Given the description of an element on the screen output the (x, y) to click on. 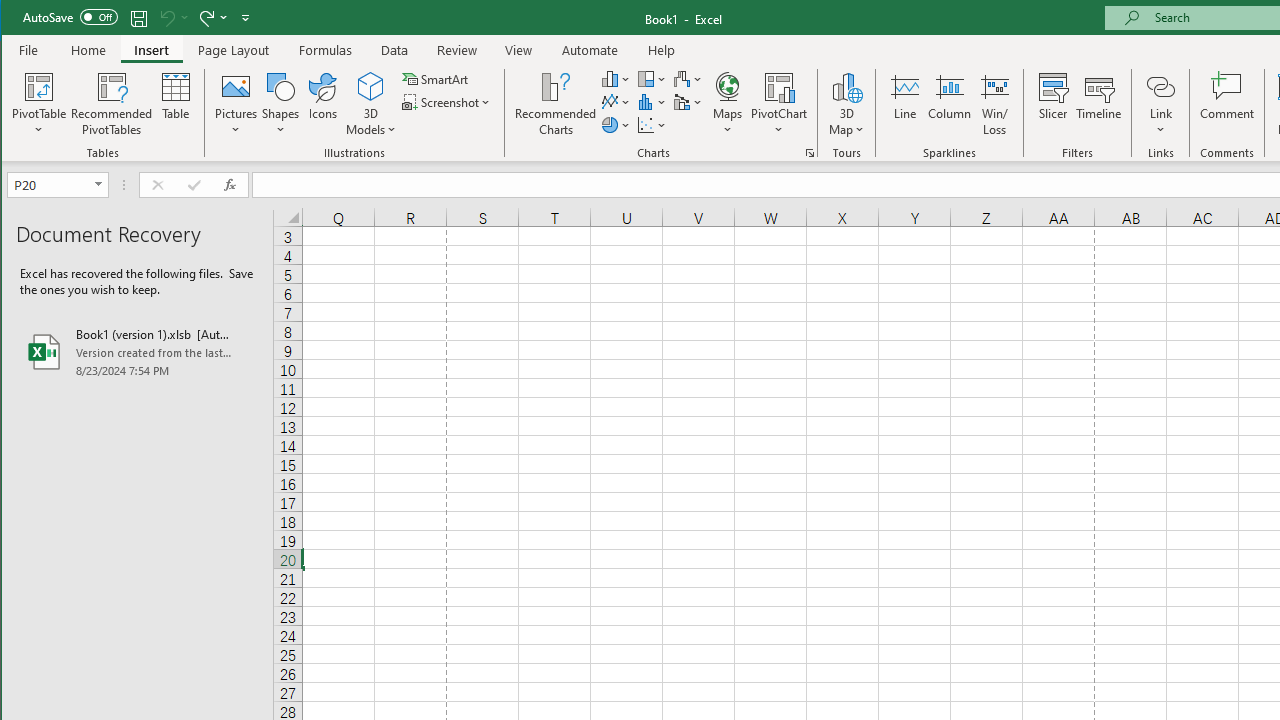
Line (904, 104)
3D Models (371, 104)
Link (1160, 104)
SmartArt... (436, 78)
Insert Waterfall, Funnel, Stock, Surface, or Radar Chart (688, 78)
PivotChart (779, 86)
Insert Hierarchy Chart (652, 78)
Column (949, 104)
